Given the description of an element on the screen output the (x, y) to click on. 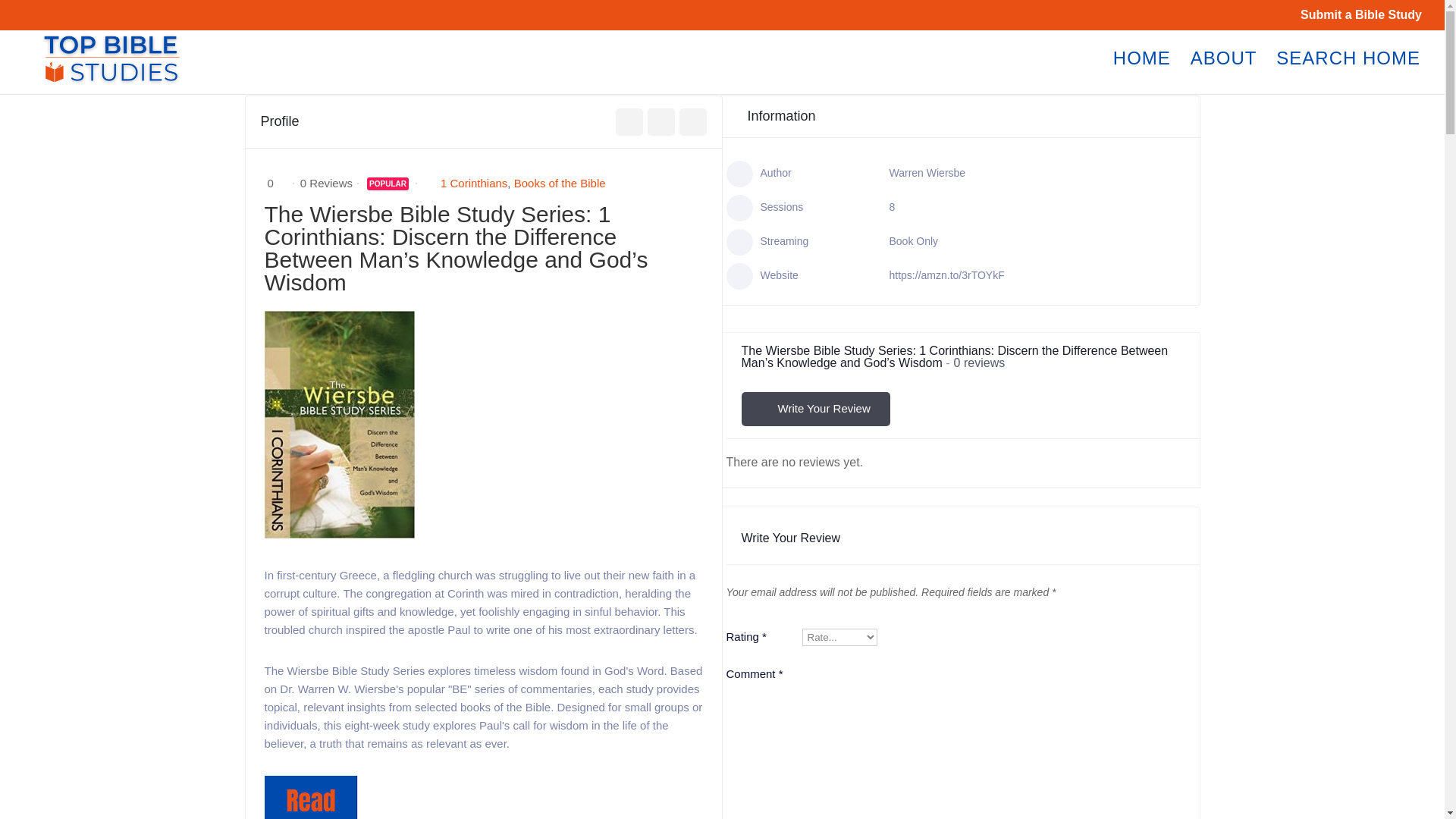
Submit a Bible Study (1361, 19)
Write Your Review (815, 408)
HOME (1141, 73)
ABOUT (1224, 73)
1 Corinthians (473, 182)
Books of the Bible (559, 182)
SEARCH HOME (1348, 73)
